Given the description of an element on the screen output the (x, y) to click on. 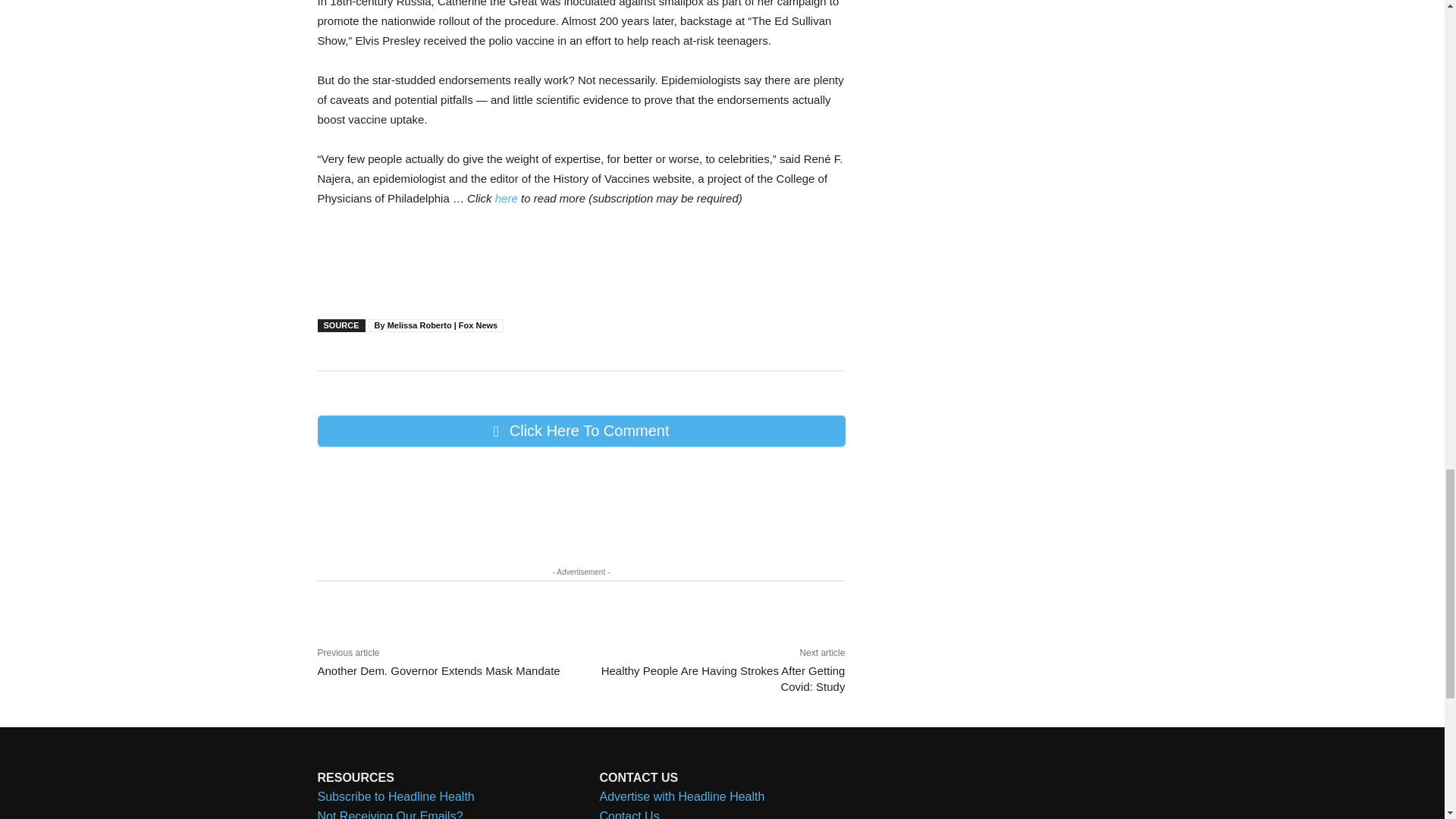
Click Here To Comment (580, 430)
